Given the description of an element on the screen output the (x, y) to click on. 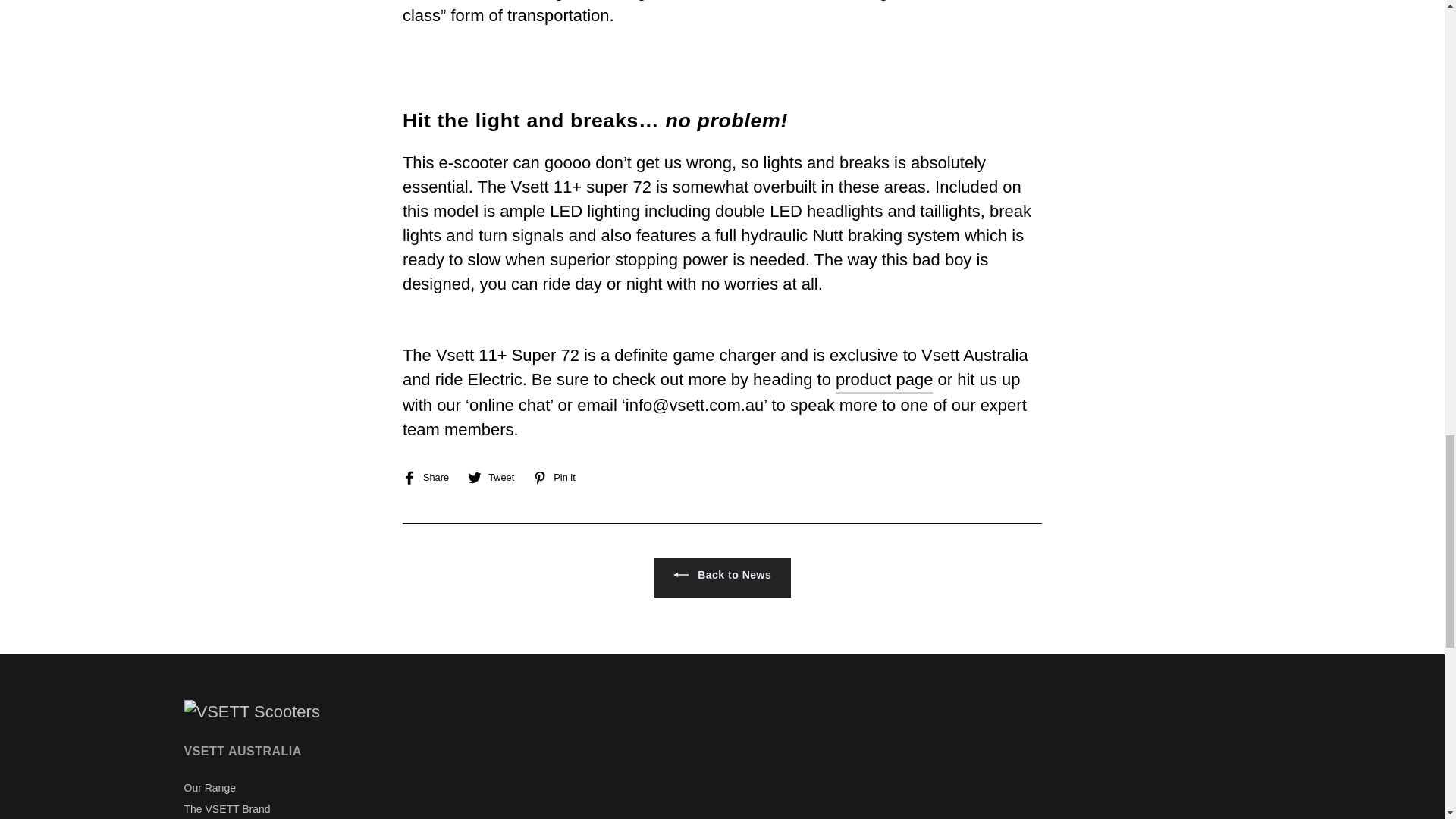
Pin on Pinterest (559, 477)
Share on Facebook (431, 477)
Tweet on Twitter (496, 477)
